Given the description of an element on the screen output the (x, y) to click on. 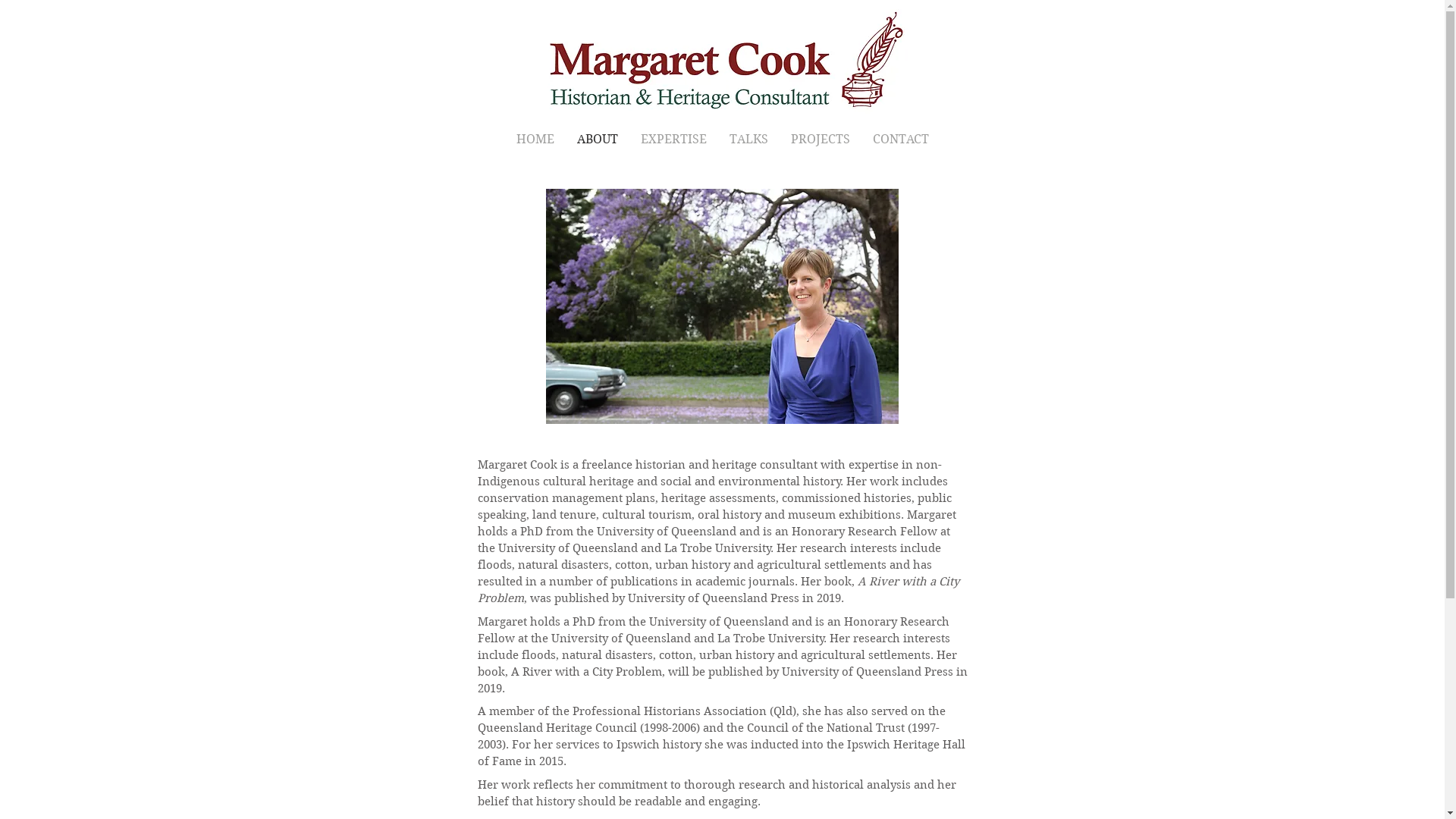
CONTACT Element type: text (900, 139)
EXPERTISE Element type: text (673, 139)
ABOUT Element type: text (597, 139)
PROJECTS Element type: text (820, 139)
TALKS Element type: text (747, 139)
HOME Element type: text (535, 139)
